Given the description of an element on the screen output the (x, y) to click on. 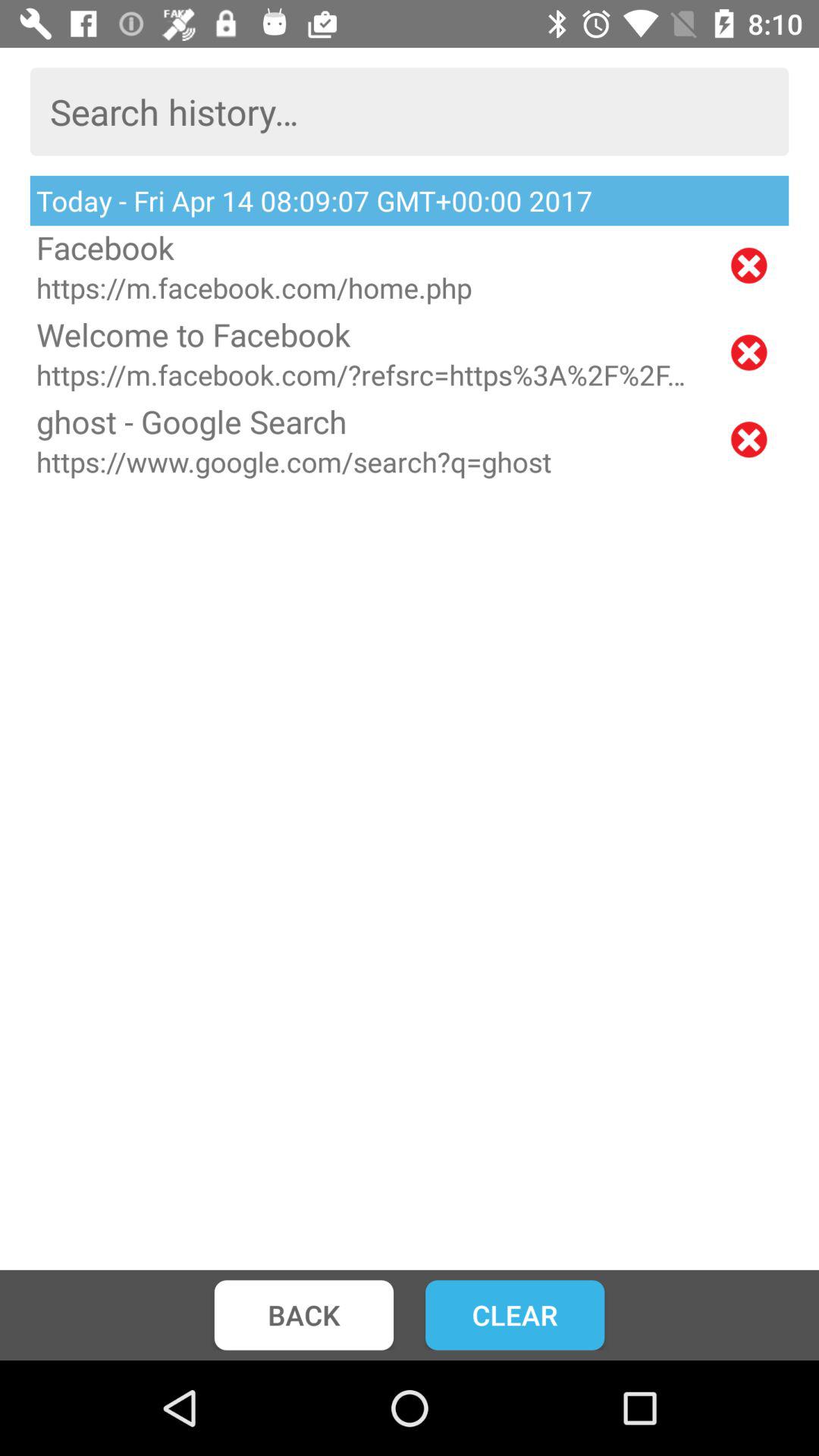
scroll until the welcome to facebook item (369, 334)
